Given the description of an element on the screen output the (x, y) to click on. 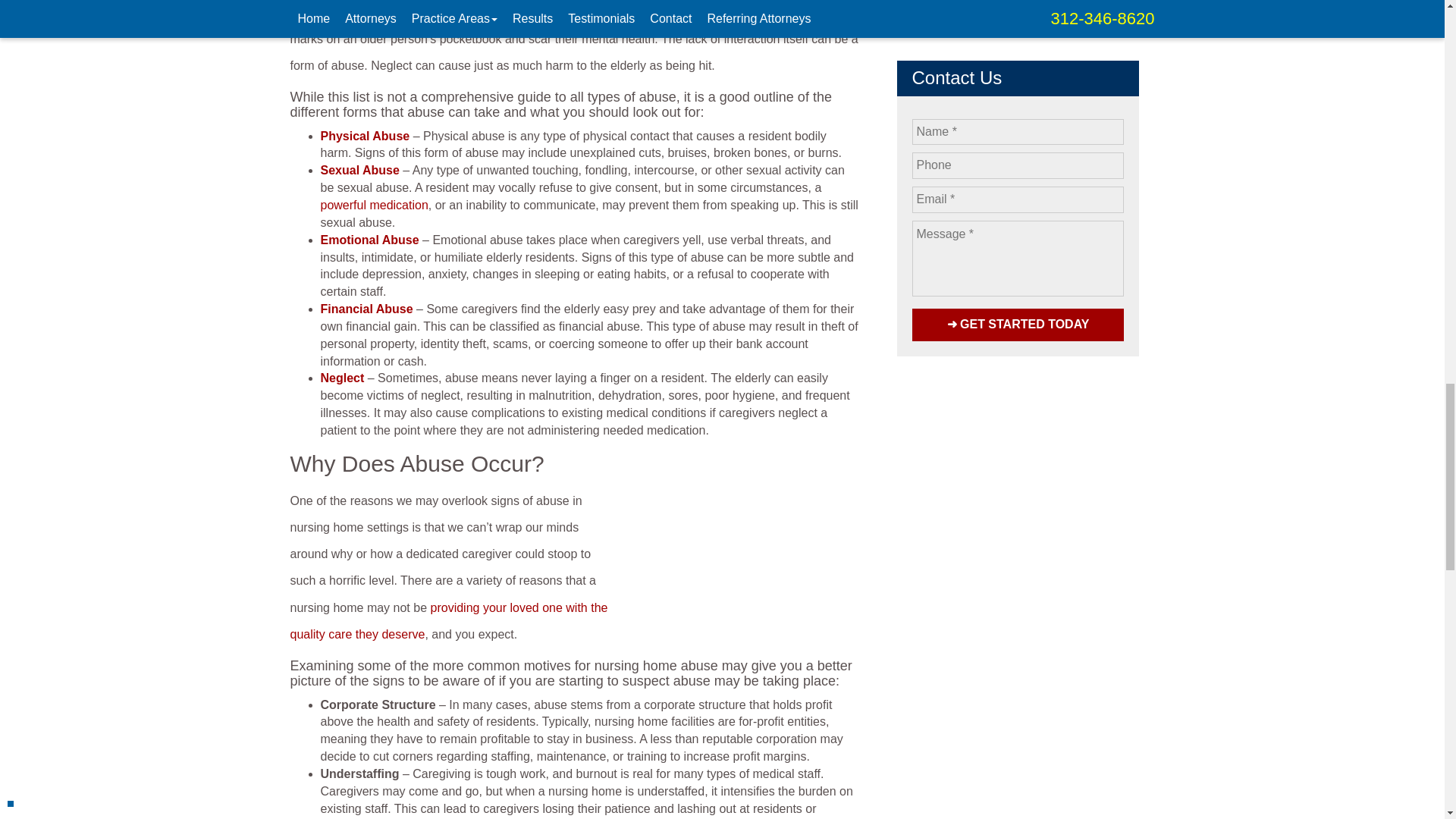
Neglect (343, 377)
providing your loved one with the quality care they deserve (448, 620)
Sexual Abuse (361, 169)
powerful medication (374, 205)
Emotional Abuse (371, 239)
Physical Abuse (366, 135)
Financial Abuse (368, 308)
